Given the description of an element on the screen output the (x, y) to click on. 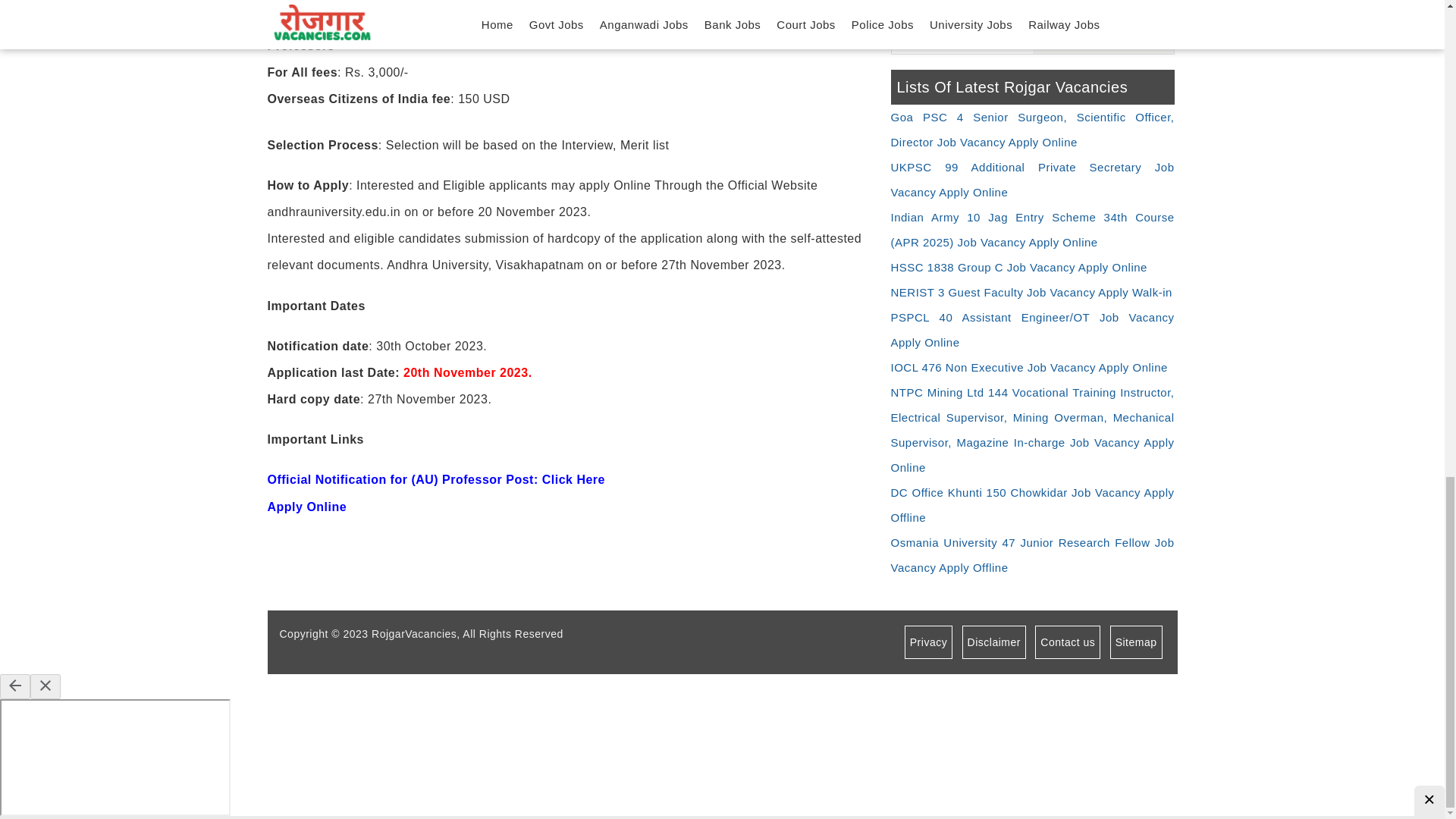
Apply Online (306, 506)
